Given the description of an element on the screen output the (x, y) to click on. 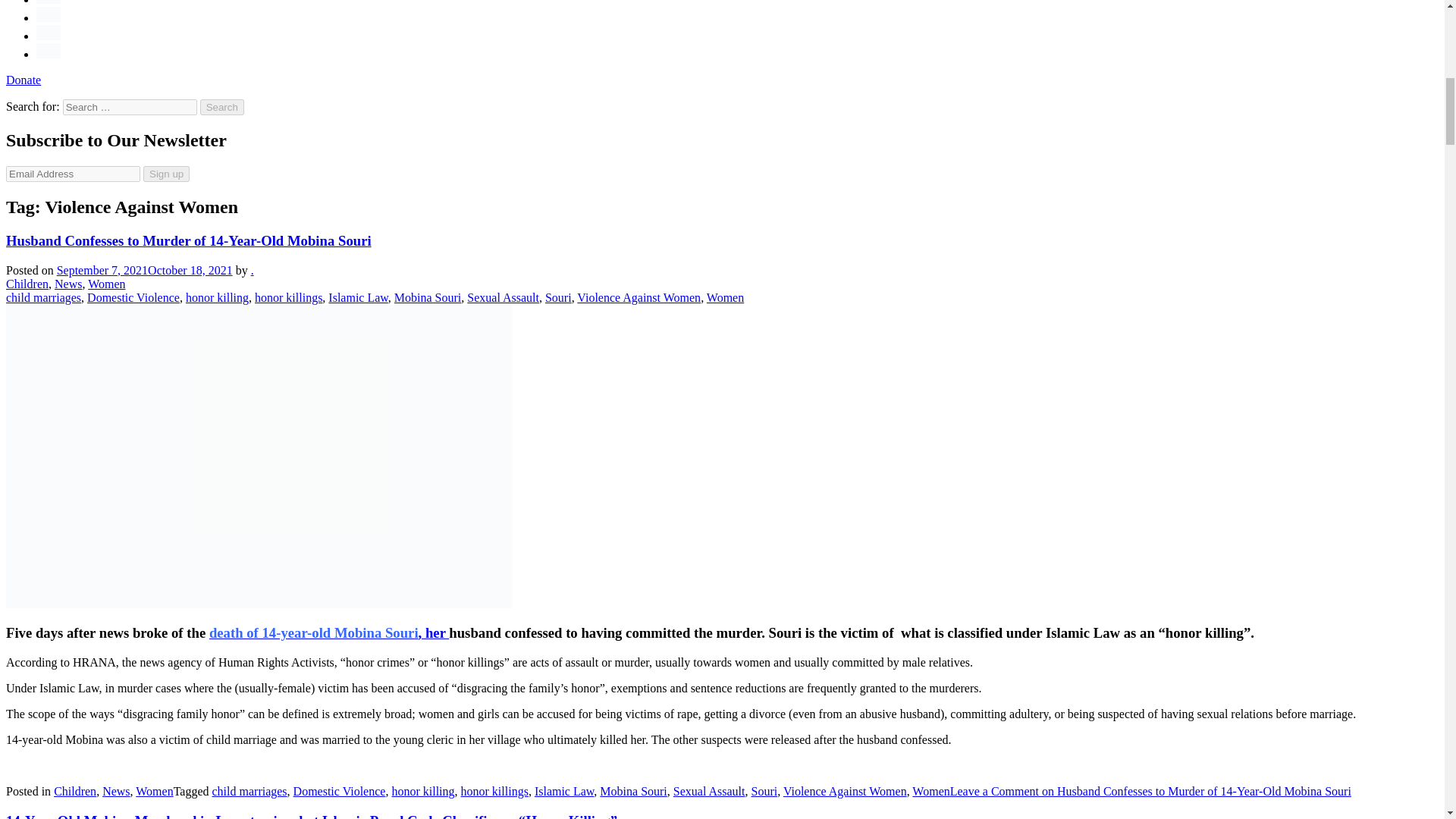
Souri (558, 297)
Mobina Souri (427, 297)
Domestic Violence (133, 297)
honor killings (287, 297)
Donate (22, 79)
Search (222, 107)
Sign up (165, 173)
Sexual Assault (502, 297)
Women (106, 283)
September 7, 2021October 18, 2021 (144, 269)
Search (222, 107)
Search (222, 107)
Children (26, 283)
Islamic Law (358, 297)
News (68, 283)
